Given the description of an element on the screen output the (x, y) to click on. 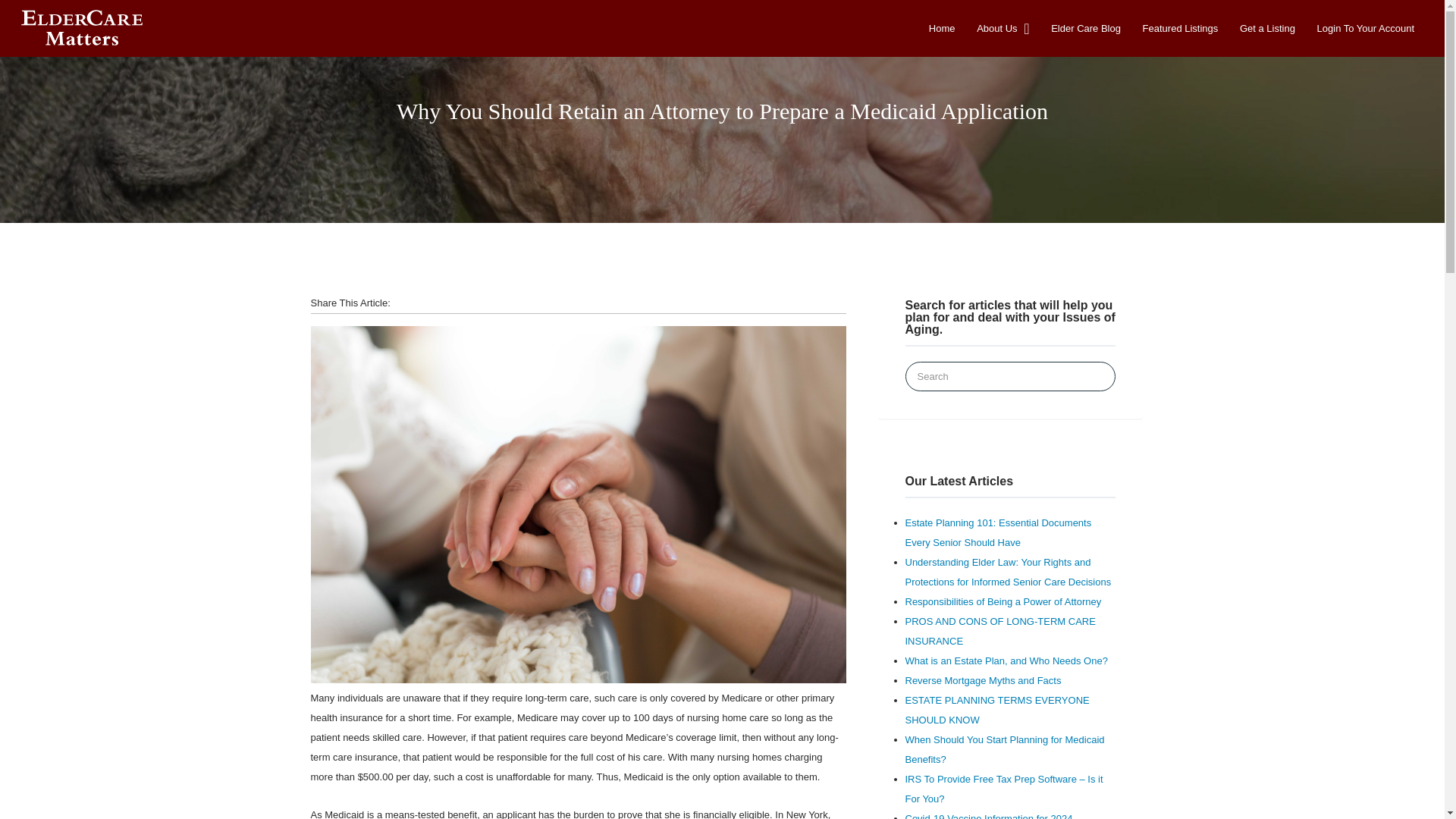
Featured Listings (1180, 28)
Login To Your Account (1365, 28)
Search for: (1010, 376)
Elder Care Blog (1086, 28)
PROS AND CONS OF LONG-TERM CARE INSURANCE (1000, 631)
Get a Listing (1267, 28)
Responsibilities of Being a Power of Attorney (1003, 601)
About Us (996, 28)
